Given the description of an element on the screen output the (x, y) to click on. 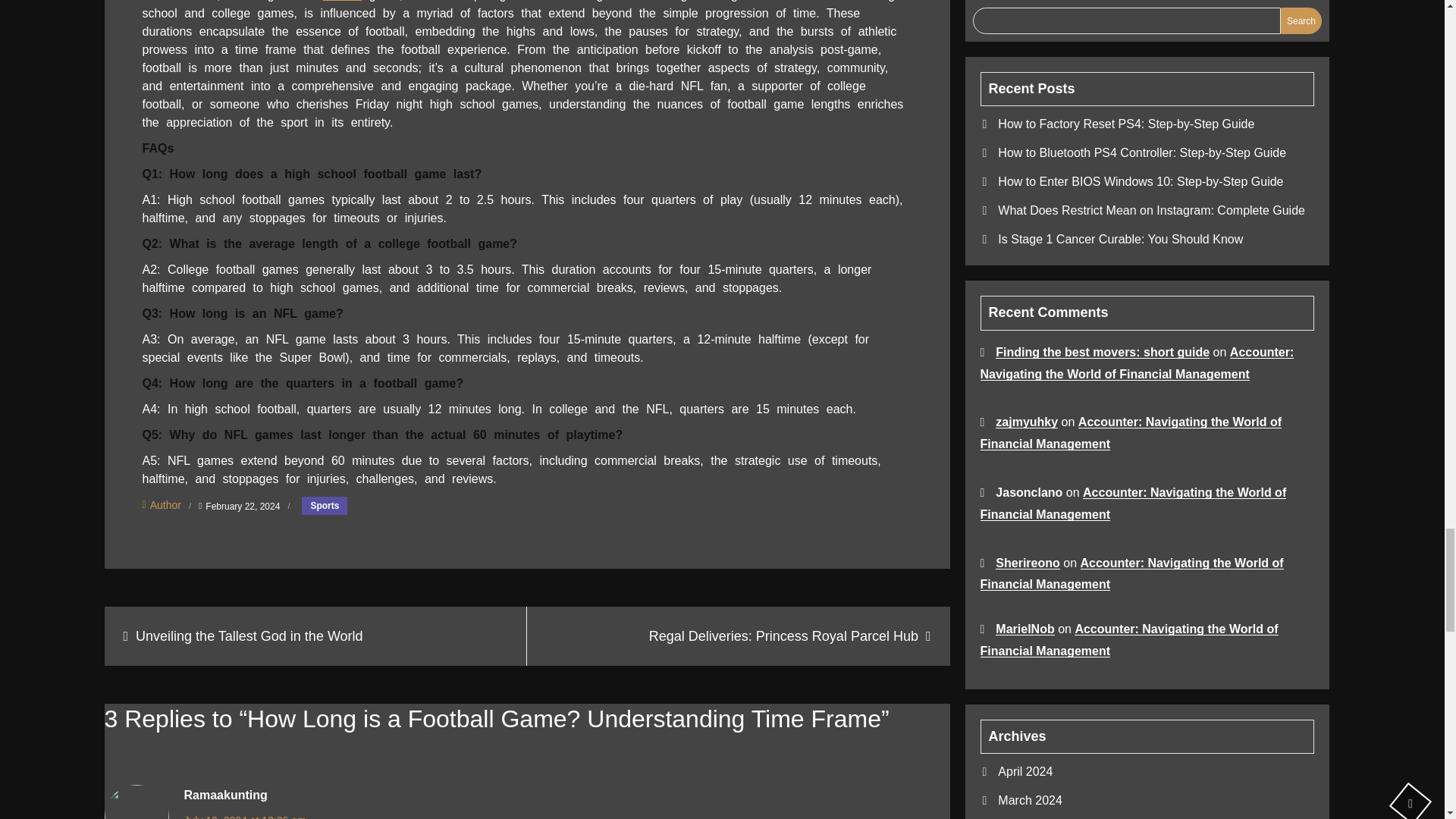
Author (161, 504)
Ramaakunting (224, 794)
July 10, 2024 at 12:36 am (244, 816)
Unveiling the Tallest God in the World (315, 635)
Regal Deliveries: Princess Royal Parcel Hub (738, 635)
Sports (324, 505)
football (342, 0)
